Given the description of an element on the screen output the (x, y) to click on. 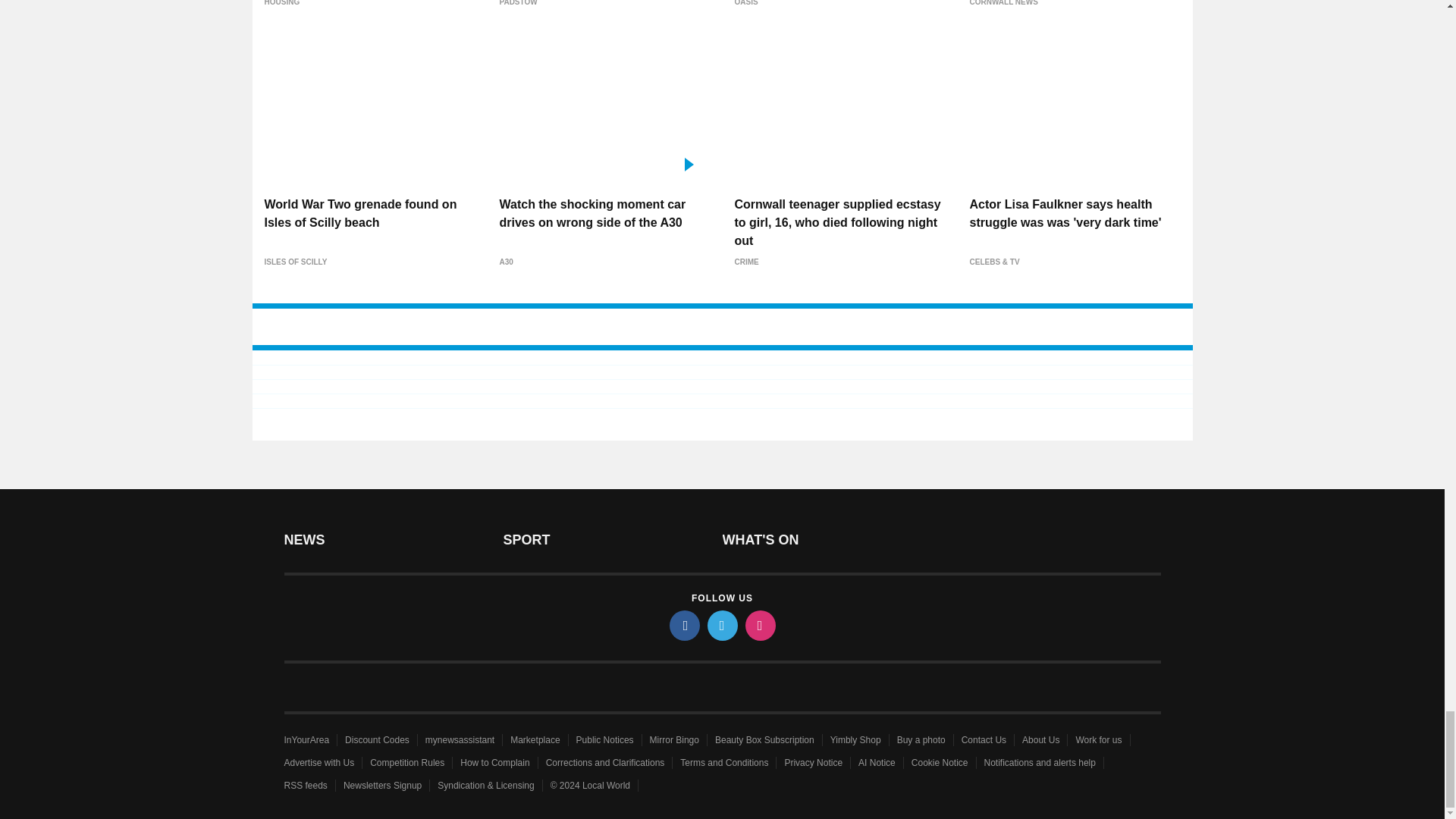
facebook (683, 625)
twitter (721, 625)
instagram (759, 625)
